Given the description of an element on the screen output the (x, y) to click on. 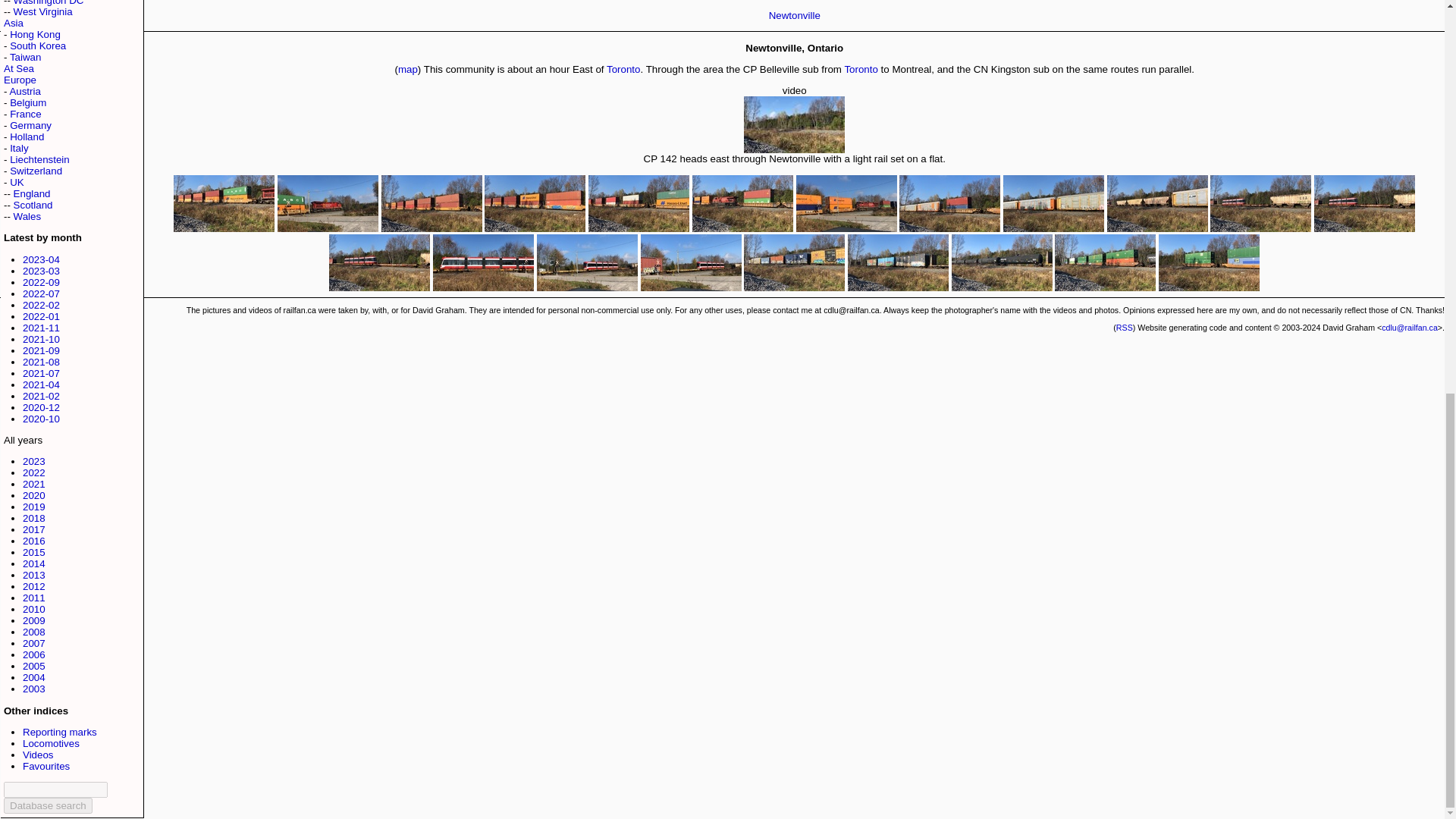
Database search (48, 805)
